Given the description of an element on the screen output the (x, y) to click on. 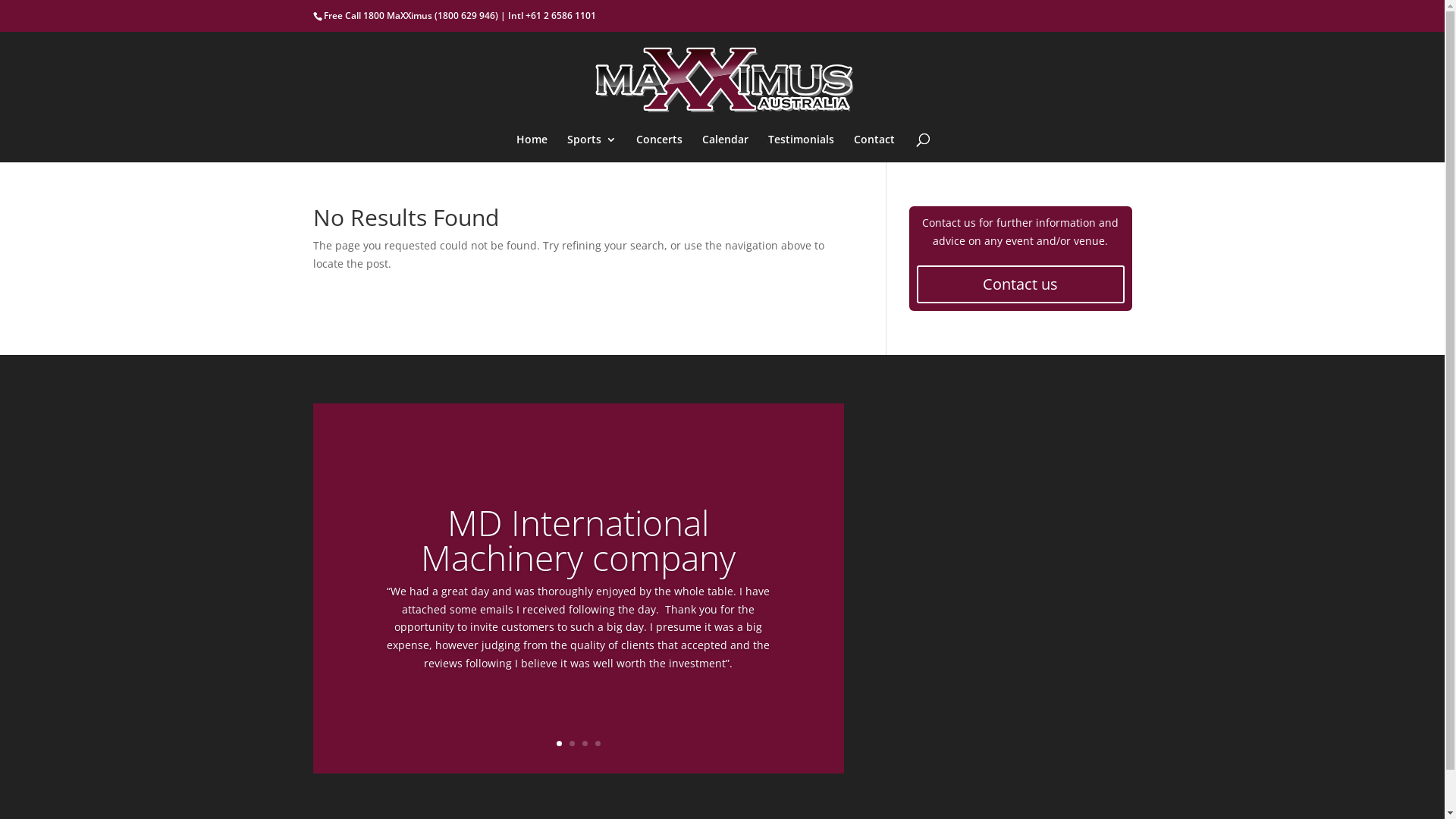
Sports Element type: text (591, 148)
Testimonials Element type: text (801, 148)
Calendar Element type: text (725, 148)
(1800 629 946) Element type: text (465, 15)
3 Element type: text (584, 743)
Concerts Element type: text (659, 148)
Intl +61 2 6586 1101 Element type: text (552, 15)
Contact Element type: text (873, 148)
LinkedIn Embedded Content Element type: hover (888, 420)
2 Element type: text (571, 743)
1 Element type: text (558, 743)
4 Element type: text (597, 743)
Home Element type: text (531, 148)
Contact us Element type: text (1019, 284)
